Given the description of an element on the screen output the (x, y) to click on. 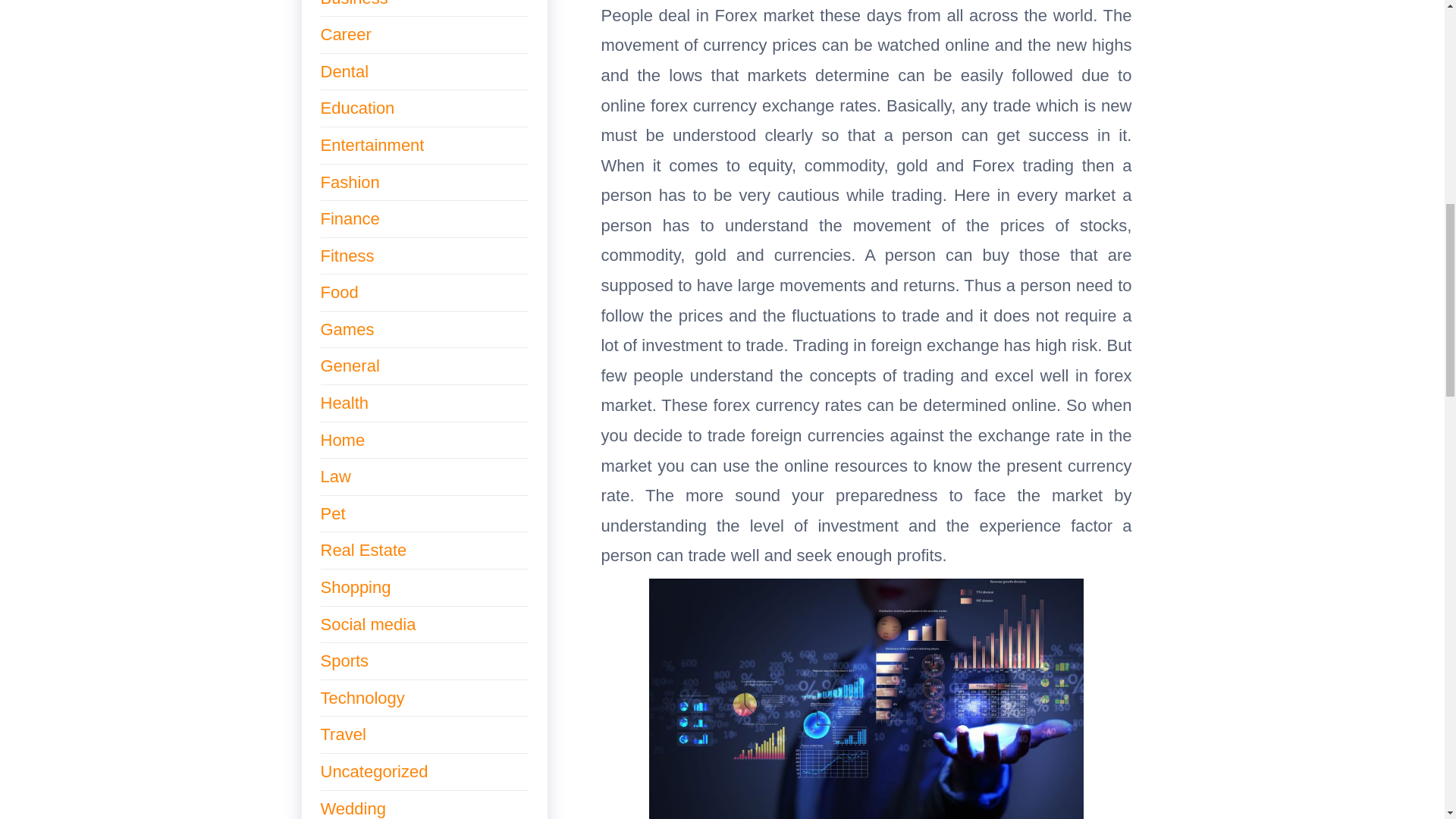
Food (339, 292)
Real Estate (363, 549)
Games (347, 329)
Shopping (355, 587)
Home (342, 439)
Wedding (352, 808)
Pet (332, 513)
Fitness (347, 255)
Law (335, 476)
Technology (362, 697)
Business (353, 3)
Education (357, 107)
Finance (349, 218)
Sports (344, 660)
Travel (342, 733)
